Given the description of an element on the screen output the (x, y) to click on. 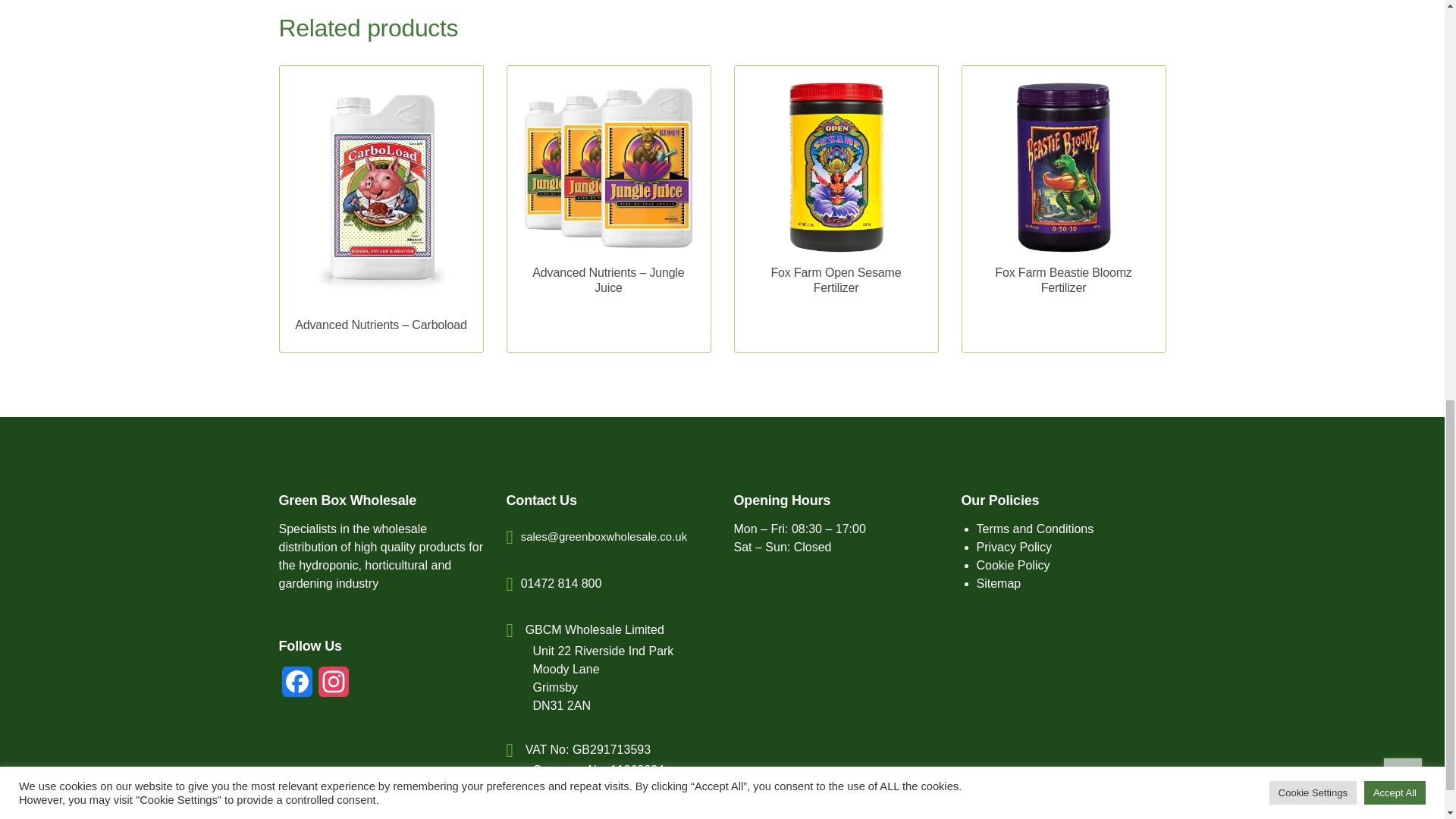
Terms and conditions (1035, 528)
Sitemap (999, 583)
Cookie policy (1012, 564)
Privacy policy (1014, 546)
